Given the description of an element on the screen output the (x, y) to click on. 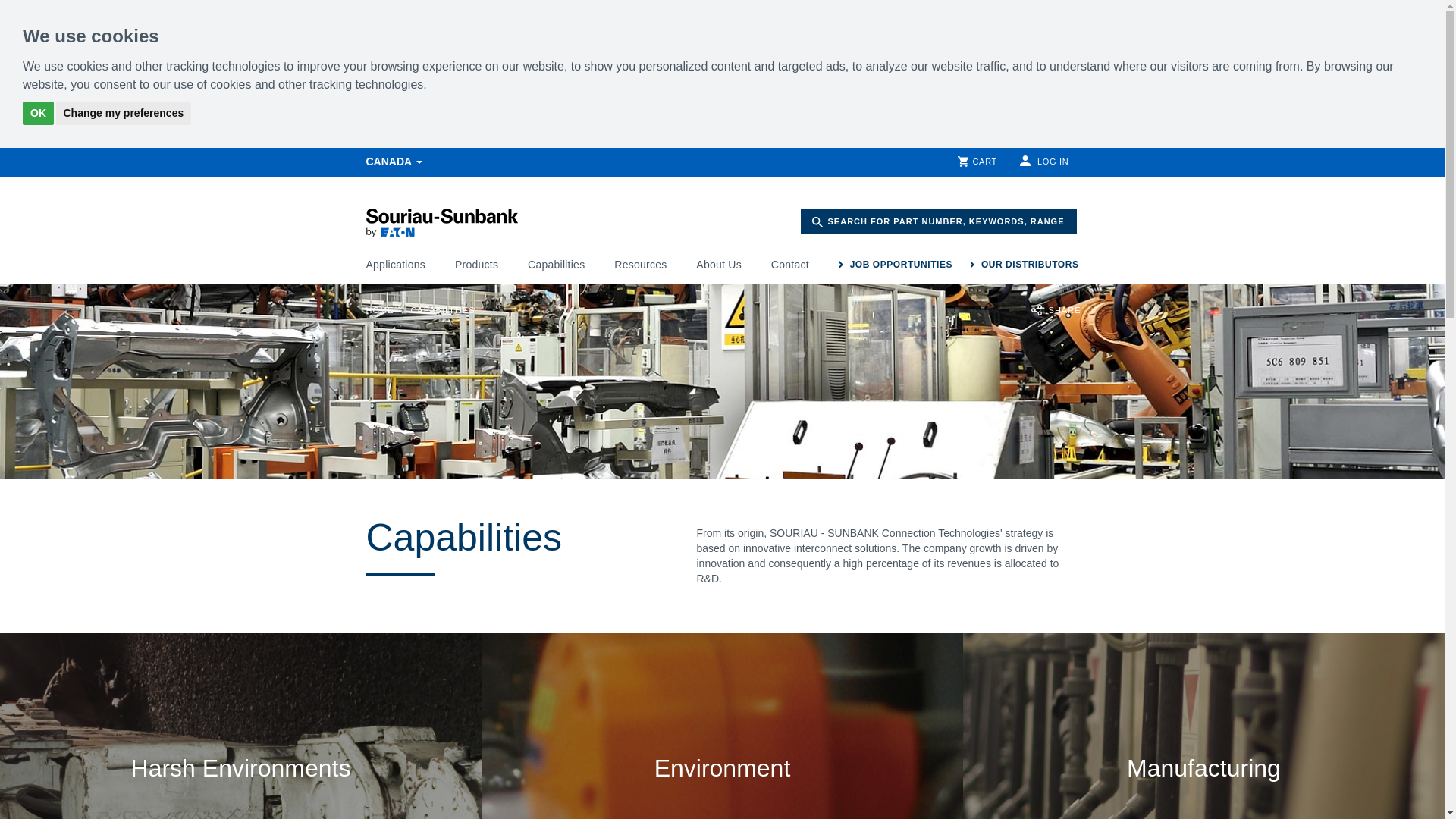
OK (38, 113)
LOG IN (1044, 162)
Capabilities (556, 269)
CART (977, 162)
Products (475, 269)
SEARCH FOR PART NUMBER, KEYWORDS, RANGE (938, 221)
JOB OPPORTUNITIES (896, 264)
OUR DISTRIBUTORS (1024, 264)
Change my preferences (124, 113)
Applications (395, 269)
